Given the description of an element on the screen output the (x, y) to click on. 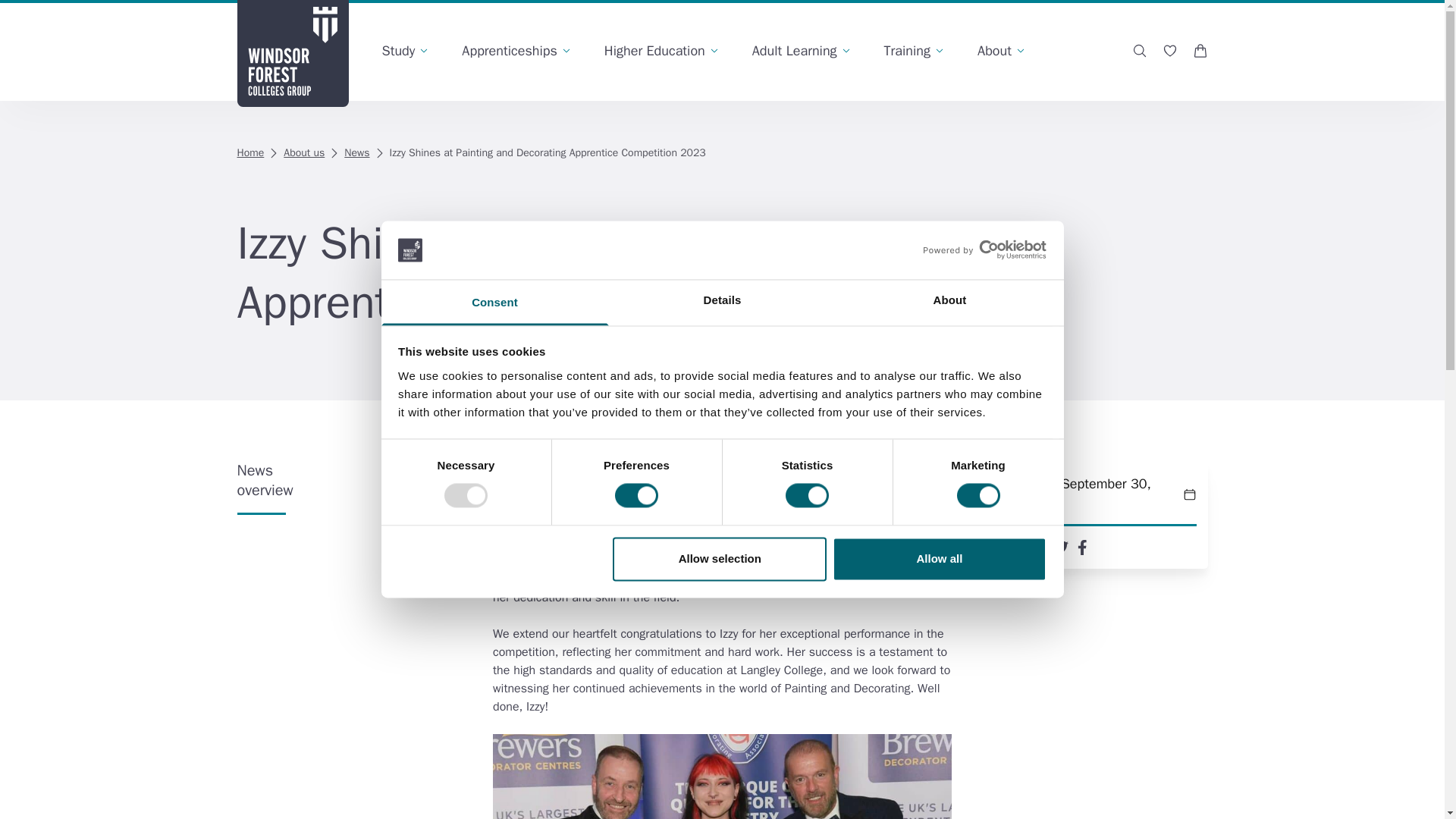
Windsor Forest College (291, 53)
Consent (494, 302)
Details (721, 302)
About (948, 302)
